Given the description of an element on the screen output the (x, y) to click on. 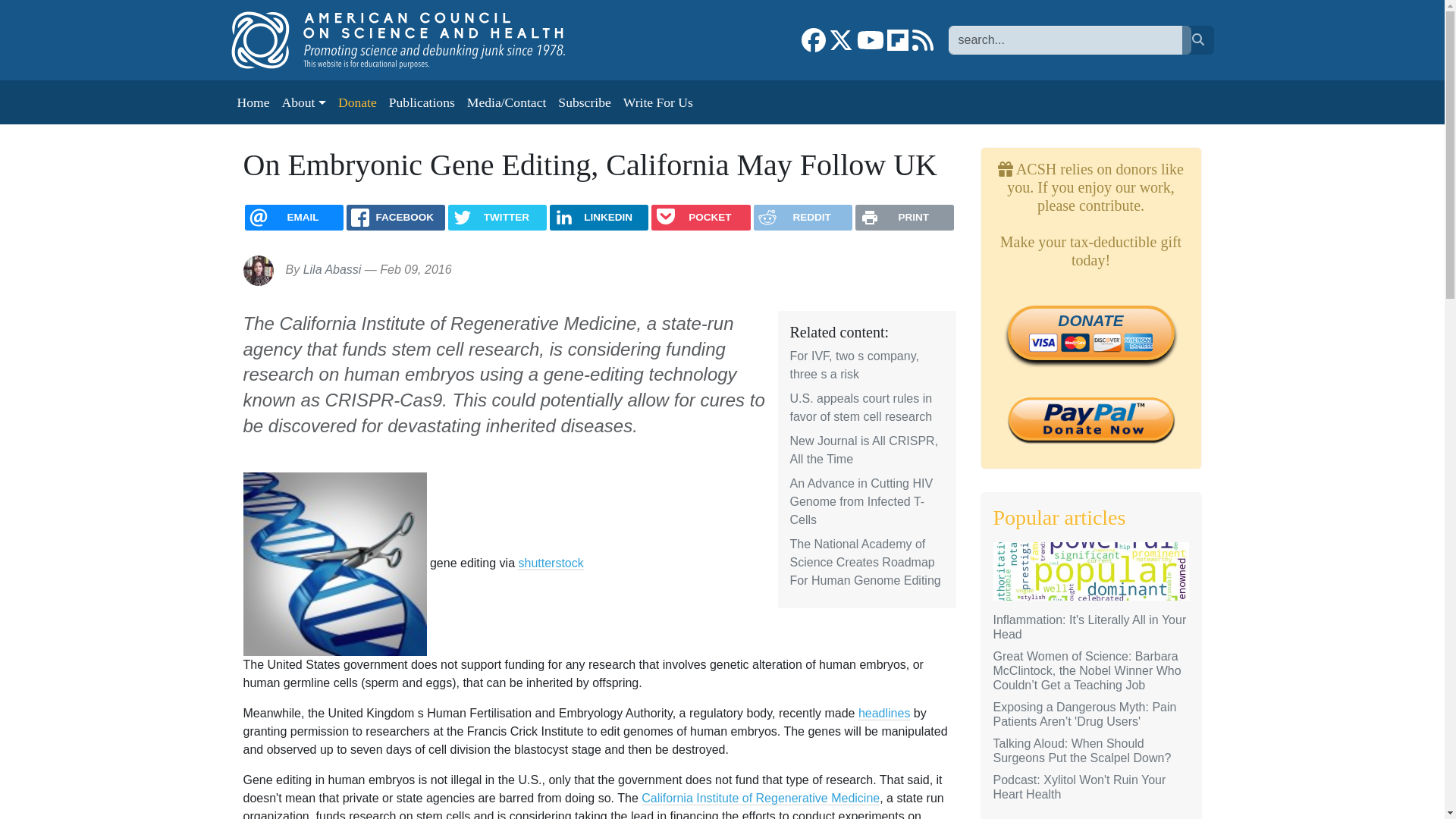
TWITTER (497, 217)
For IVF, two s company, three s a risk (854, 364)
POCKET (699, 217)
Publications (421, 101)
Home (413, 39)
search (1196, 39)
FACEBOOK (395, 217)
New Journal is All CRISPR, All the Time (864, 450)
LINKEDIN (598, 217)
PRINT (904, 217)
Subscribe (583, 101)
headlines (885, 713)
U.S. appeals court rules in favor of stem cell research (861, 407)
Write For Us (657, 101)
